Given the description of an element on the screen output the (x, y) to click on. 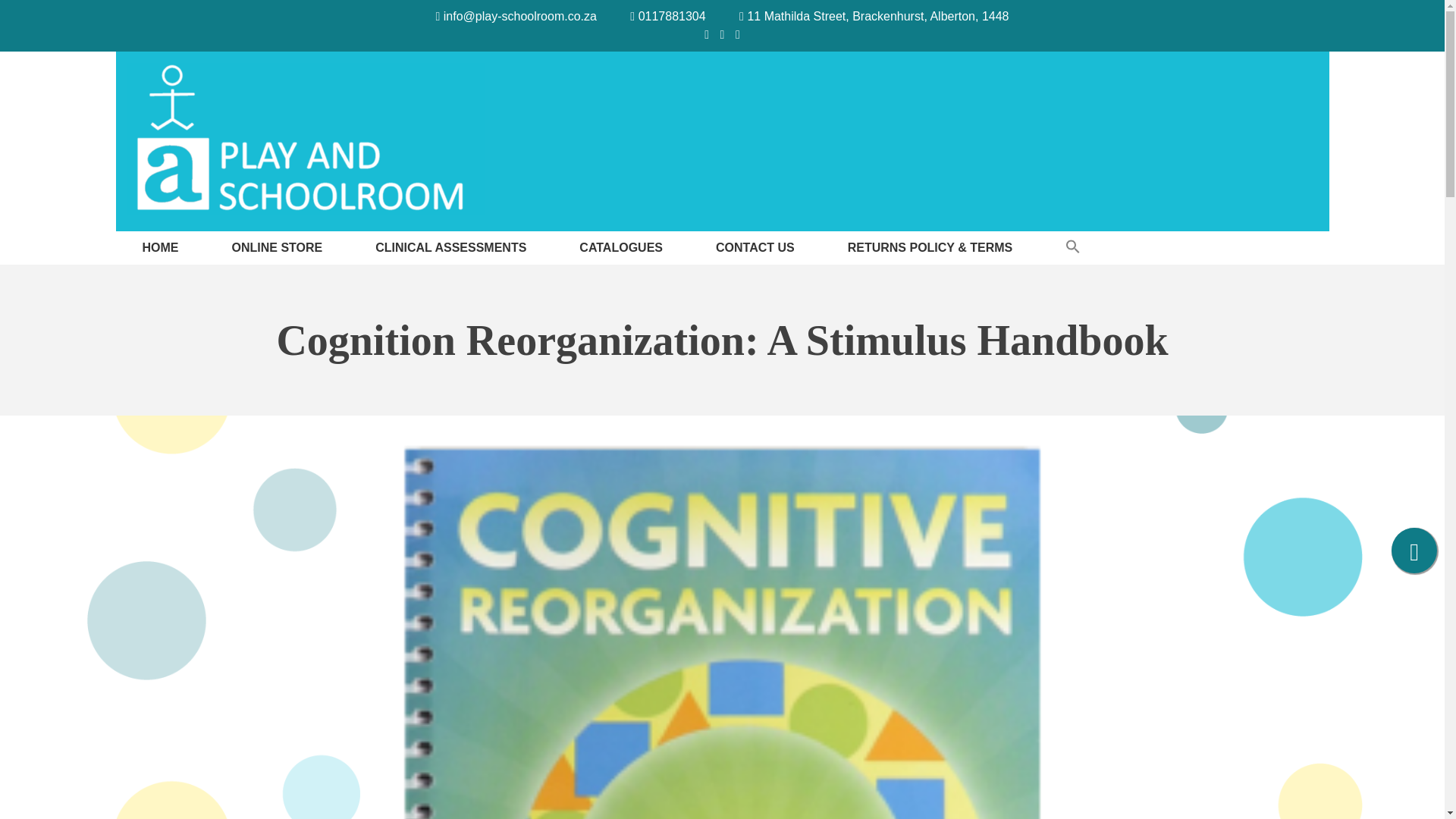
ONLINE STORE (277, 263)
0117881304 (667, 15)
CATALOGUES (620, 263)
HOME (160, 263)
11 Mathilda Street, Brackenhurst, Alberton, 1448 (874, 15)
CONTACT US (754, 262)
Play School Room CC (187, 240)
CLINICAL ASSESSMENTS (451, 263)
